Given the description of an element on the screen output the (x, y) to click on. 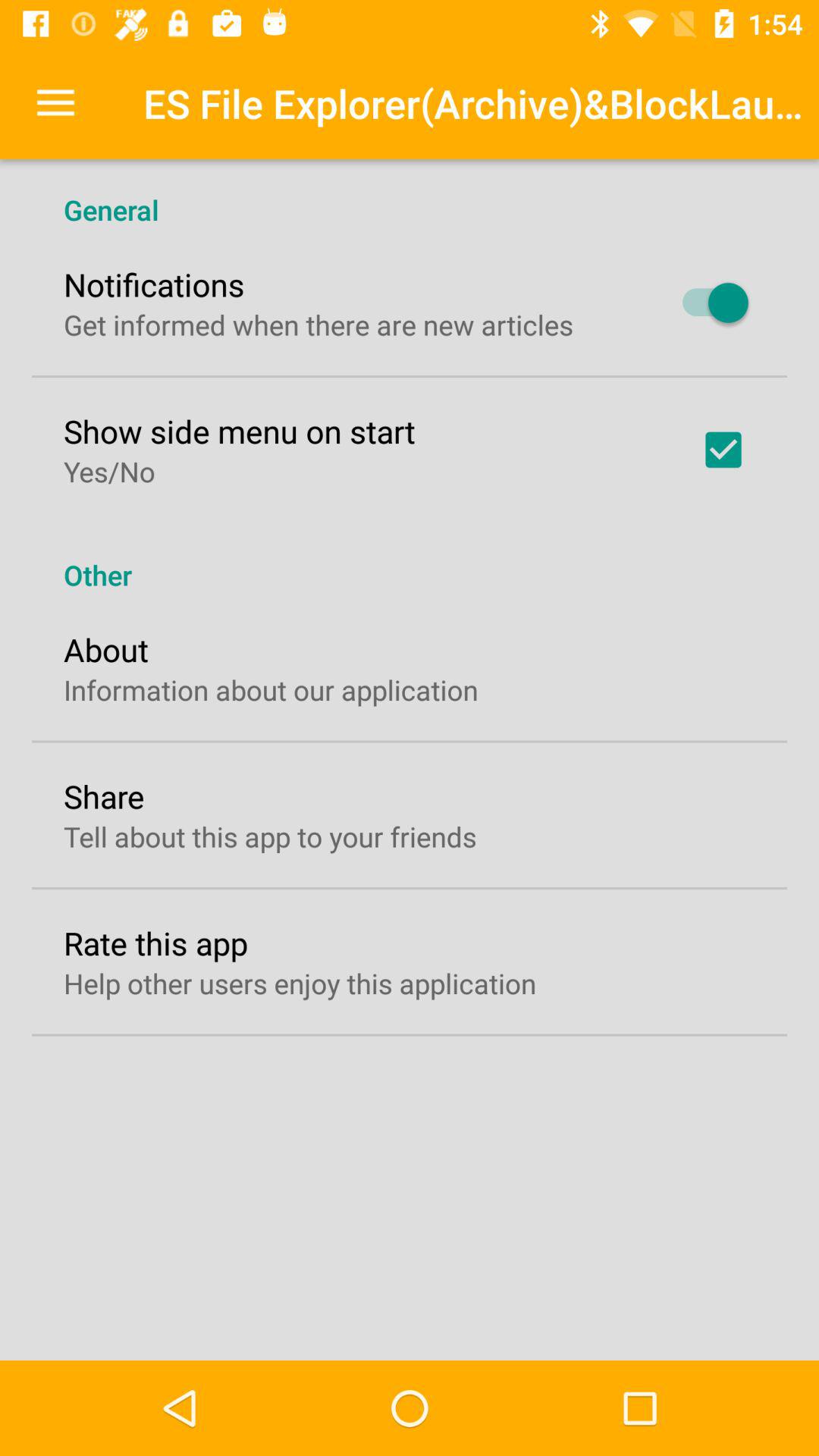
turn off the app to the left of the es file explorer (55, 103)
